Given the description of an element on the screen output the (x, y) to click on. 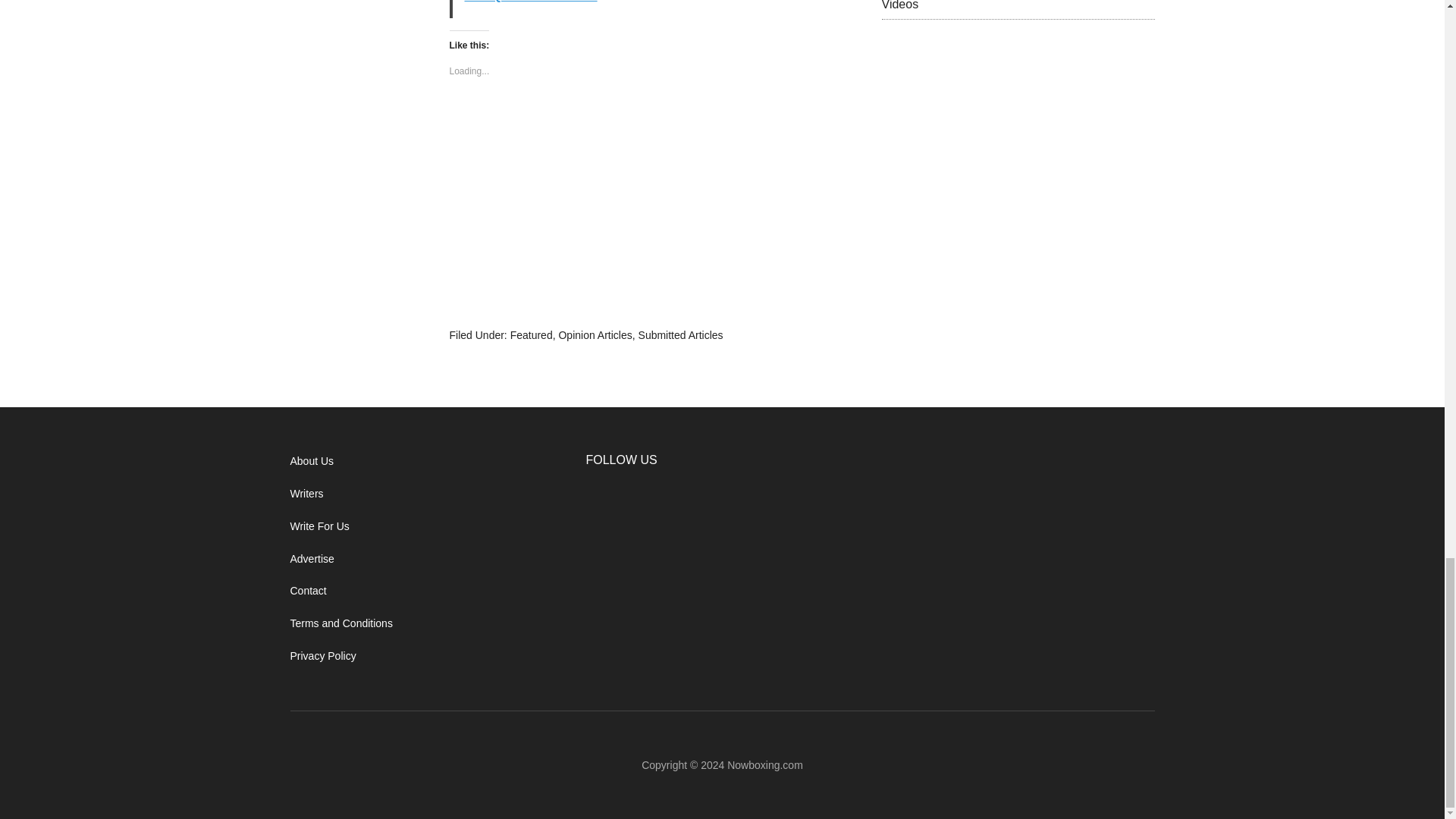
Featured (532, 335)
Opinion Articles (594, 335)
Submitted Articles (681, 335)
